Given the description of an element on the screen output the (x, y) to click on. 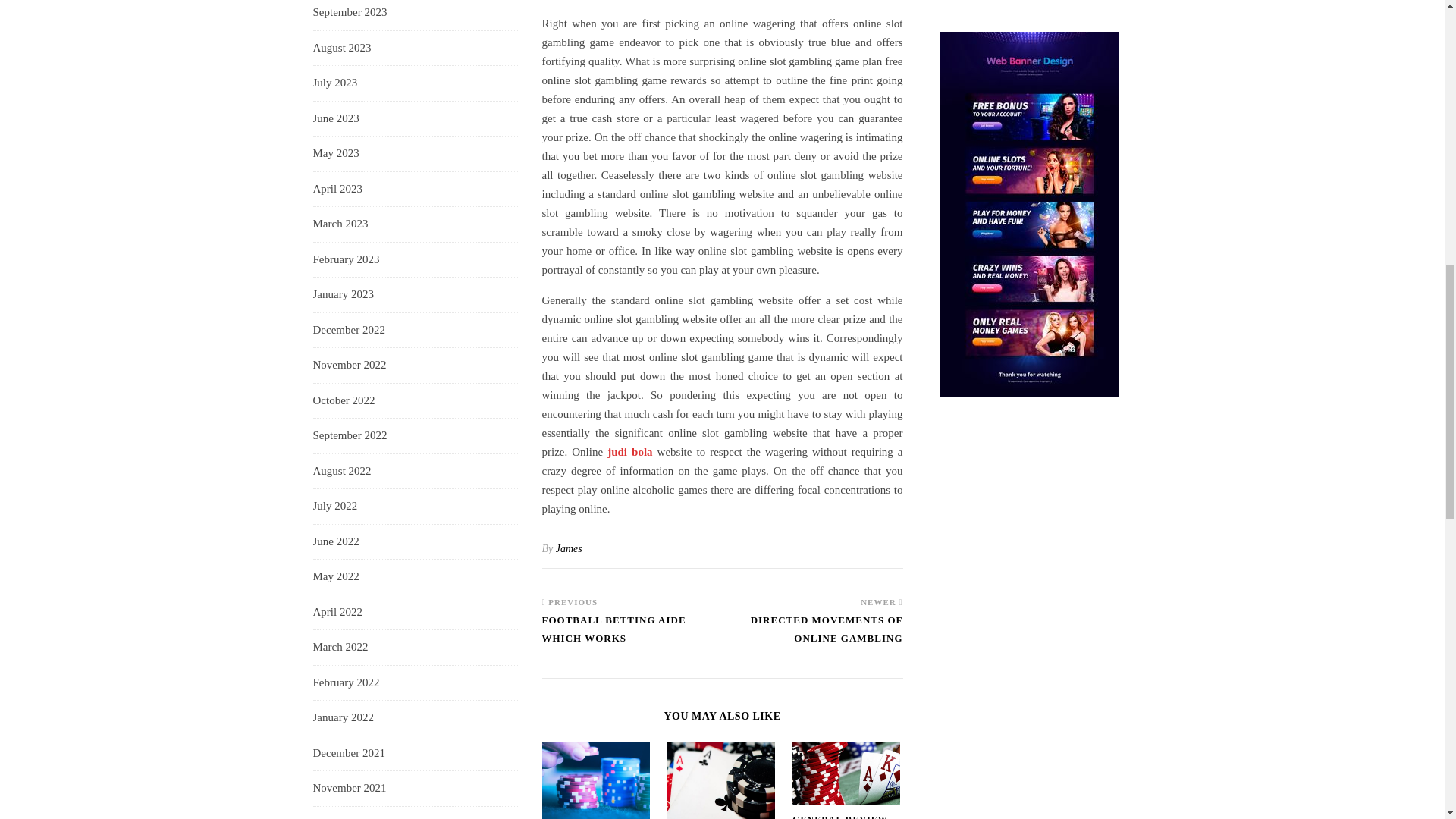
July 2023 (334, 83)
February 2022 (345, 682)
May 2022 (335, 576)
April 2022 (337, 612)
September 2022 (350, 435)
February 2023 (345, 259)
January 2023 (342, 294)
December 2022 (348, 330)
January 2022 (342, 717)
Directed Movements Of Online Gambling (812, 635)
November 2022 (349, 364)
July 2022 (334, 506)
March 2023 (340, 224)
August 2023 (342, 48)
October 2022 (343, 400)
